Given the description of an element on the screen output the (x, y) to click on. 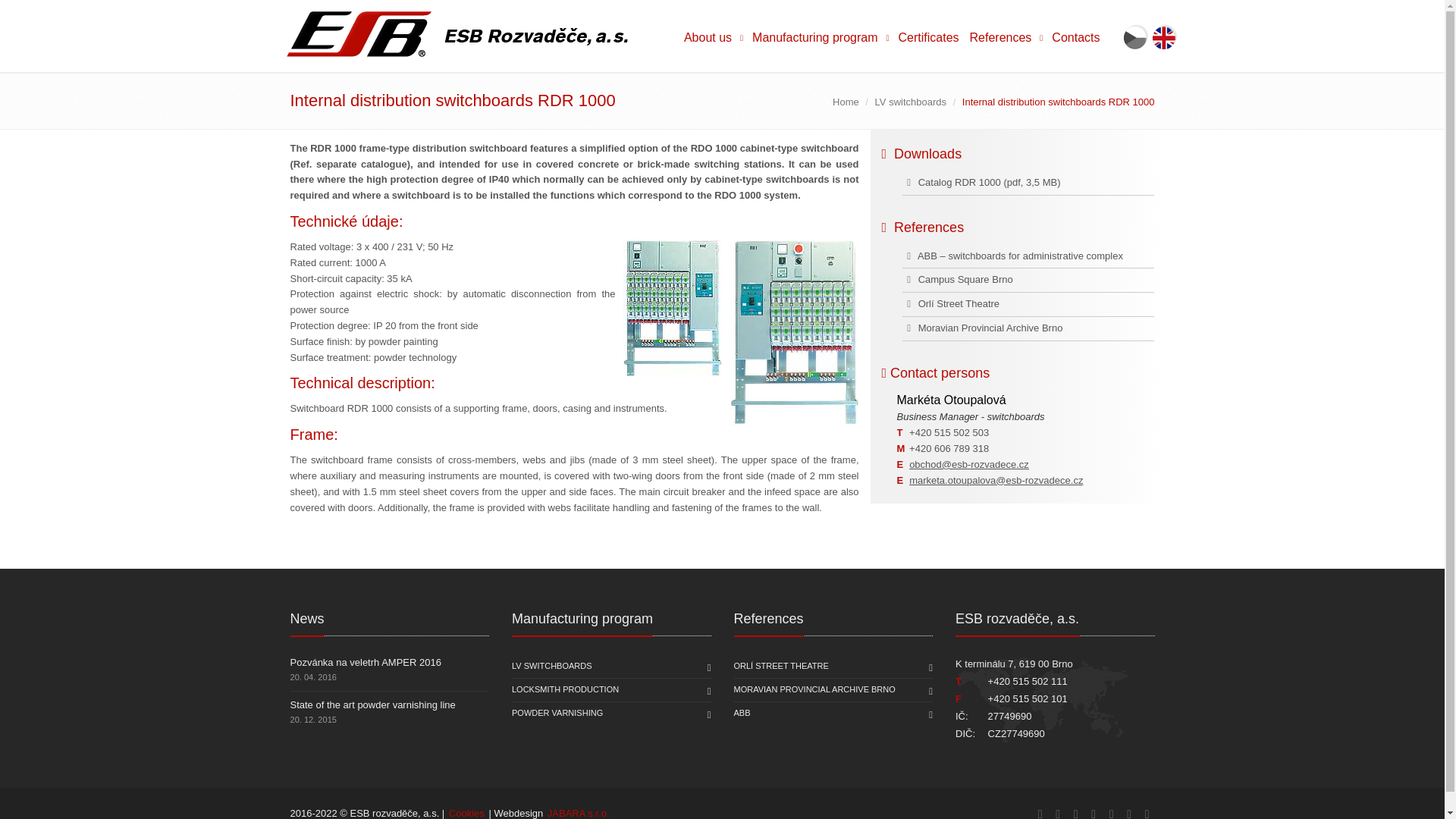
Catalog RDR 1000 (951, 182)
Home (845, 101)
Certificates (928, 36)
English (1165, 36)
References (1004, 36)
LV switchboards (910, 101)
About us (712, 36)
Campus Square Brno (956, 279)
